Given the description of an element on the screen output the (x, y) to click on. 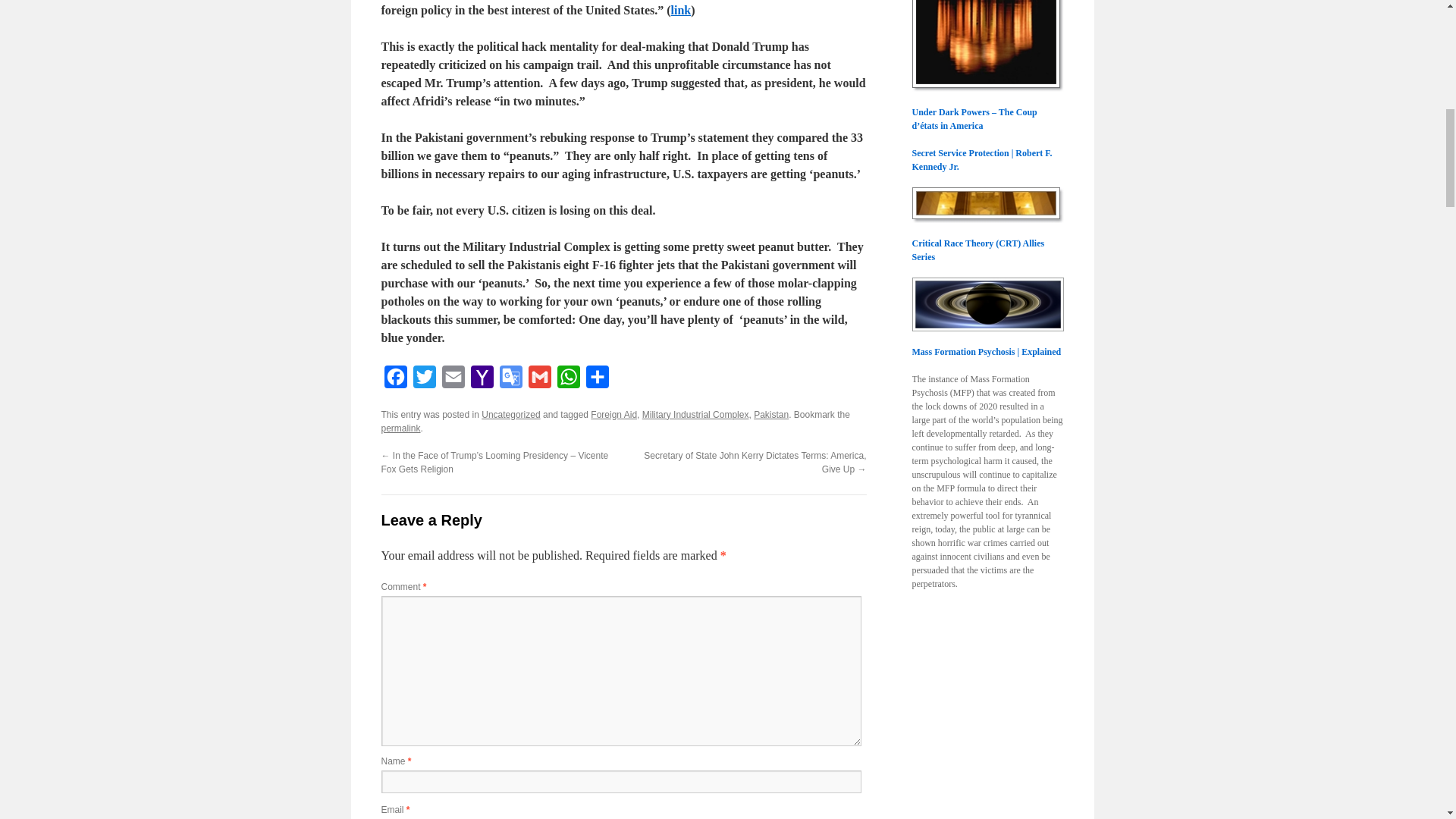
Pakistan (771, 414)
WhatsApp (567, 380)
link (681, 10)
Gmail (538, 380)
Facebook (394, 380)
WhatsApp (567, 380)
Google Translate (510, 380)
Uncategorized (510, 414)
Email (452, 380)
permalink (400, 428)
